Given the description of an element on the screen output the (x, y) to click on. 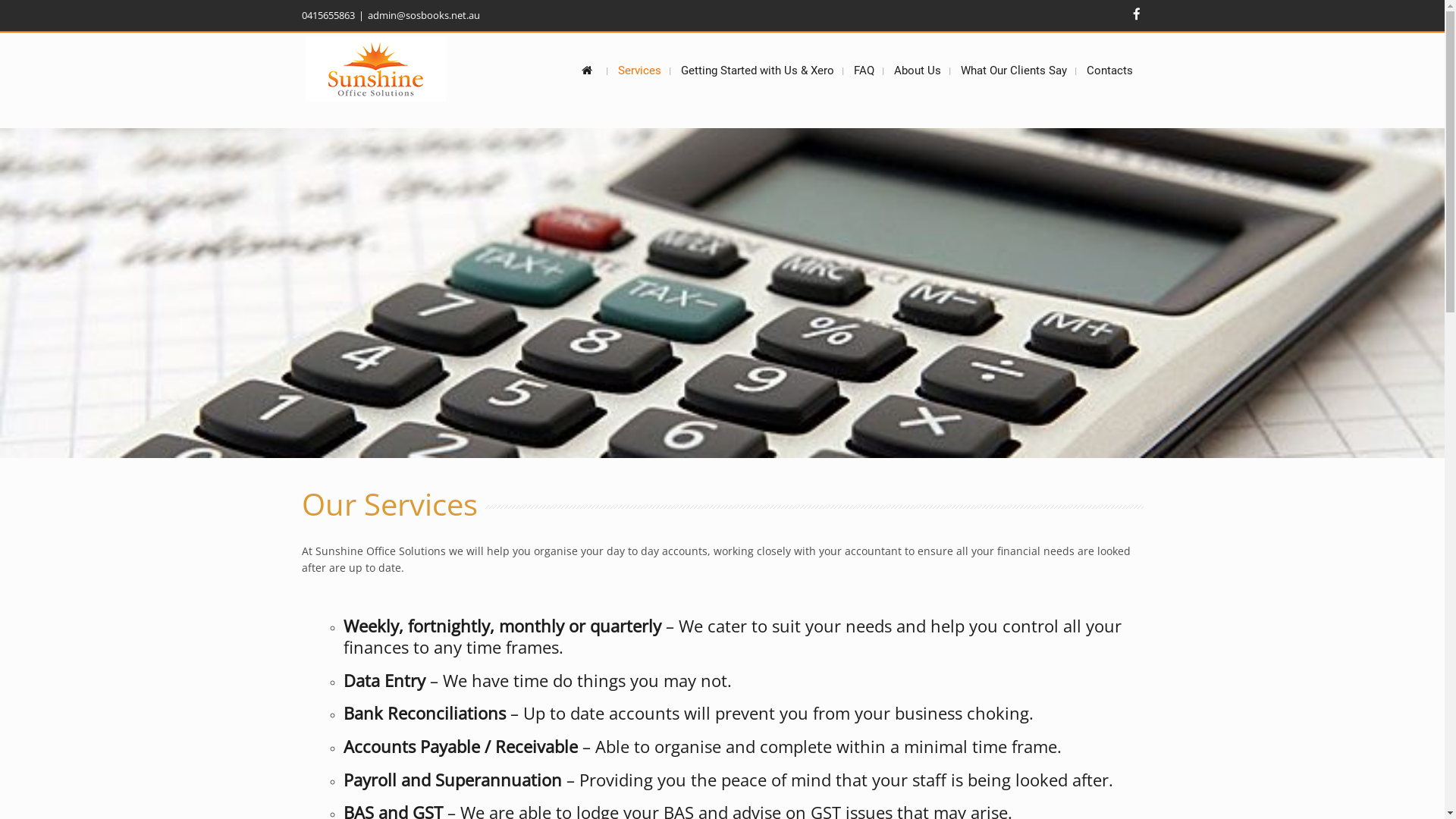
Facebook Element type: hover (1136, 13)
About Us Element type: text (916, 70)
Sunshine Office Solutions Element type: hover (374, 68)
  Element type: text (588, 70)
Services Element type: text (638, 70)
Getting Started with Us & Xero Element type: text (757, 70)
FAQ Element type: text (863, 70)
Contacts Element type: text (1108, 70)
What Our Clients Say Element type: text (1013, 70)
